Given the description of an element on the screen output the (x, y) to click on. 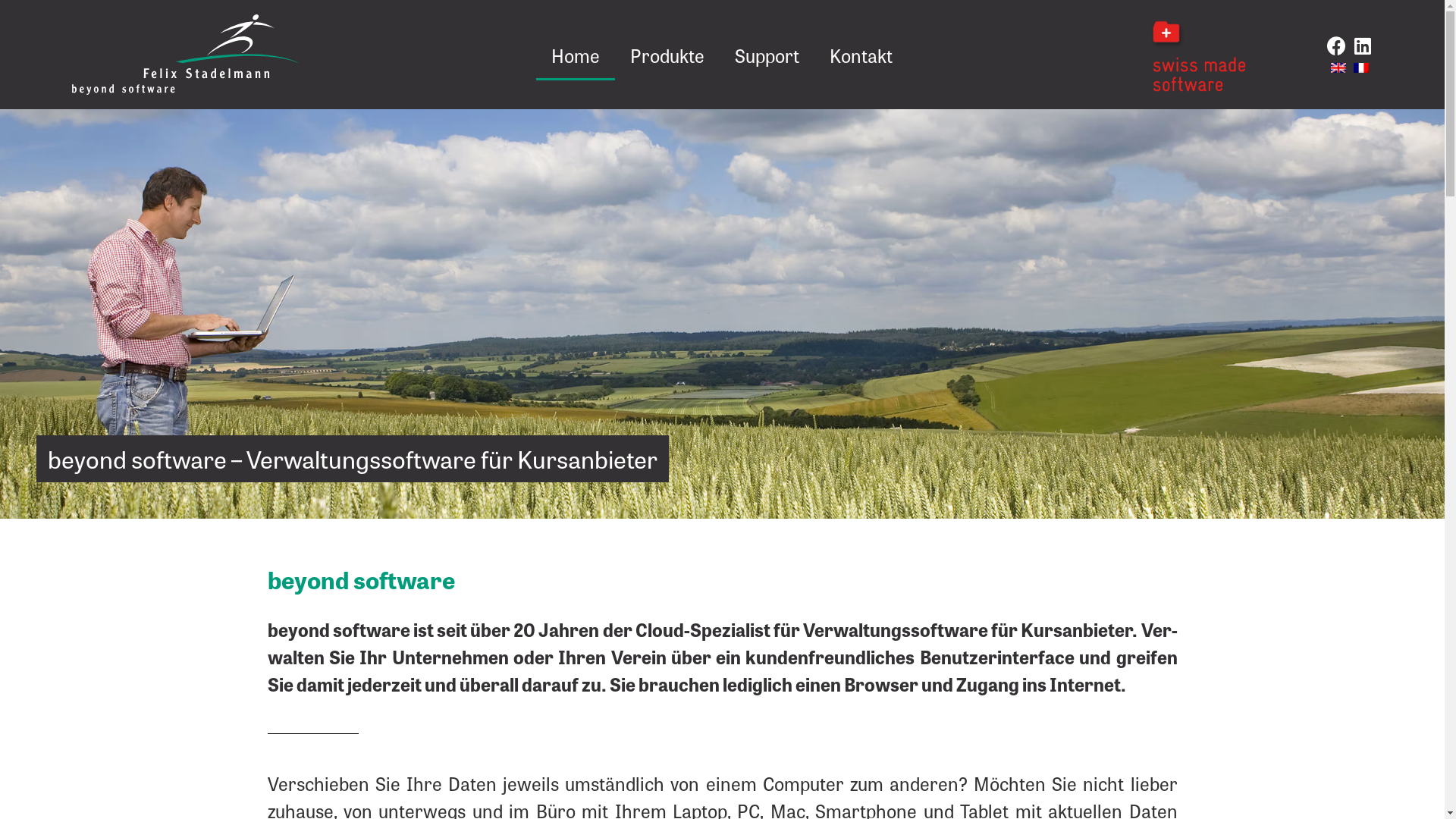
Home Element type: text (575, 54)
